Given the description of an element on the screen output the (x, y) to click on. 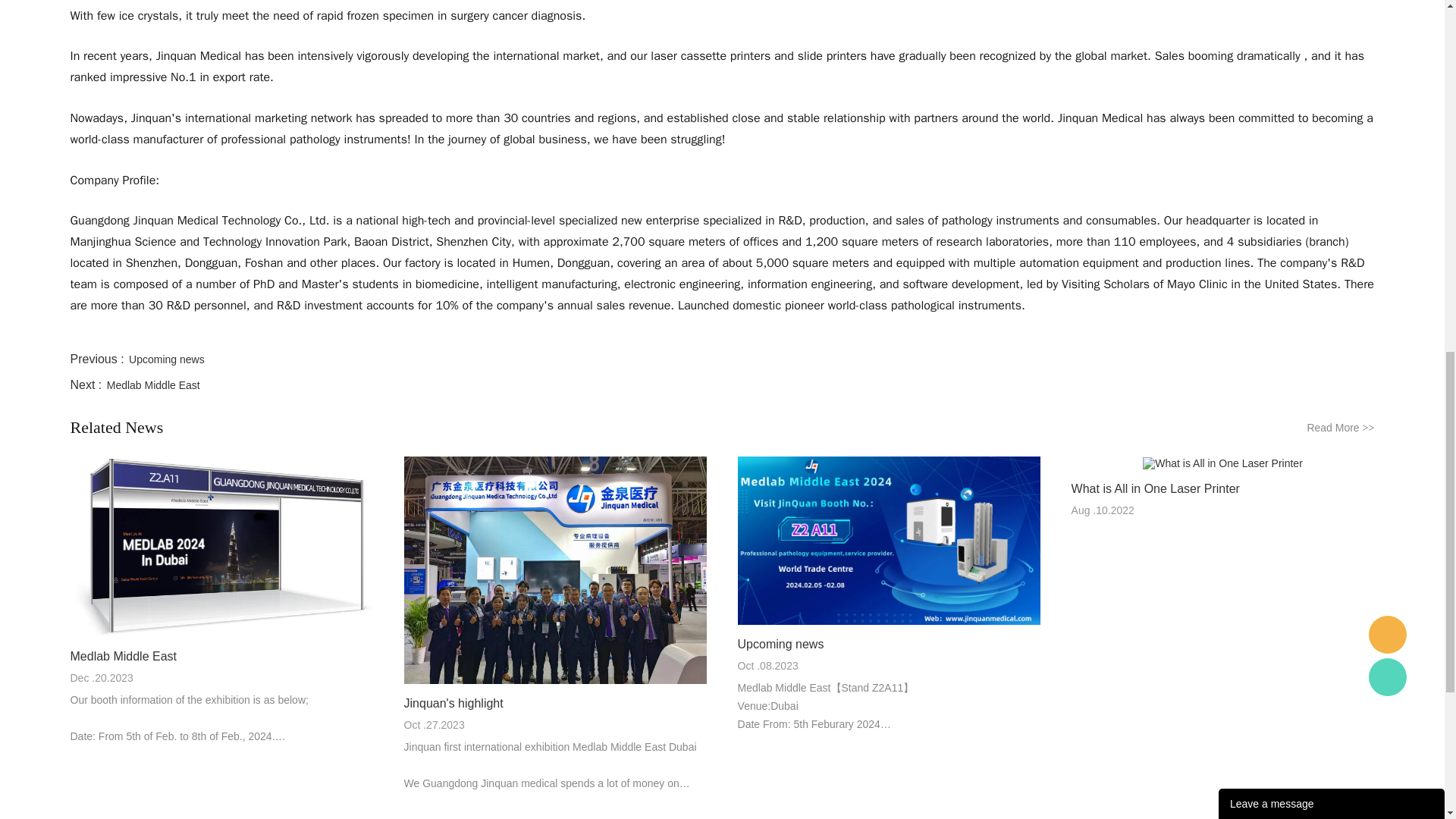
Send (1331, 232)
